Given the description of an element on the screen output the (x, y) to click on. 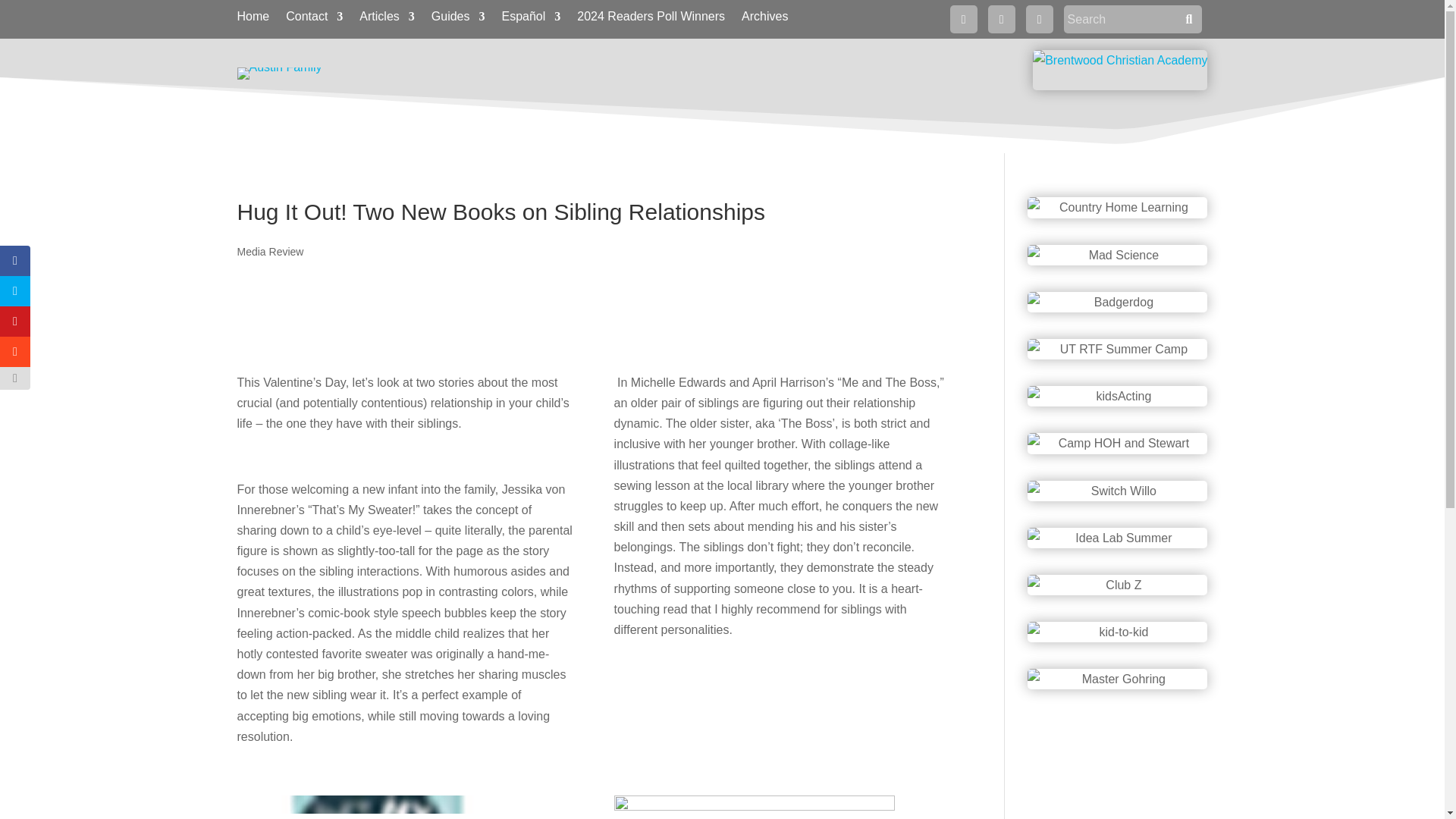
Home (252, 19)
Archives (764, 19)
Contact (313, 19)
Guides (457, 19)
Articles (386, 19)
2024 Readers Poll Winners (650, 19)
